Given the description of an element on the screen output the (x, y) to click on. 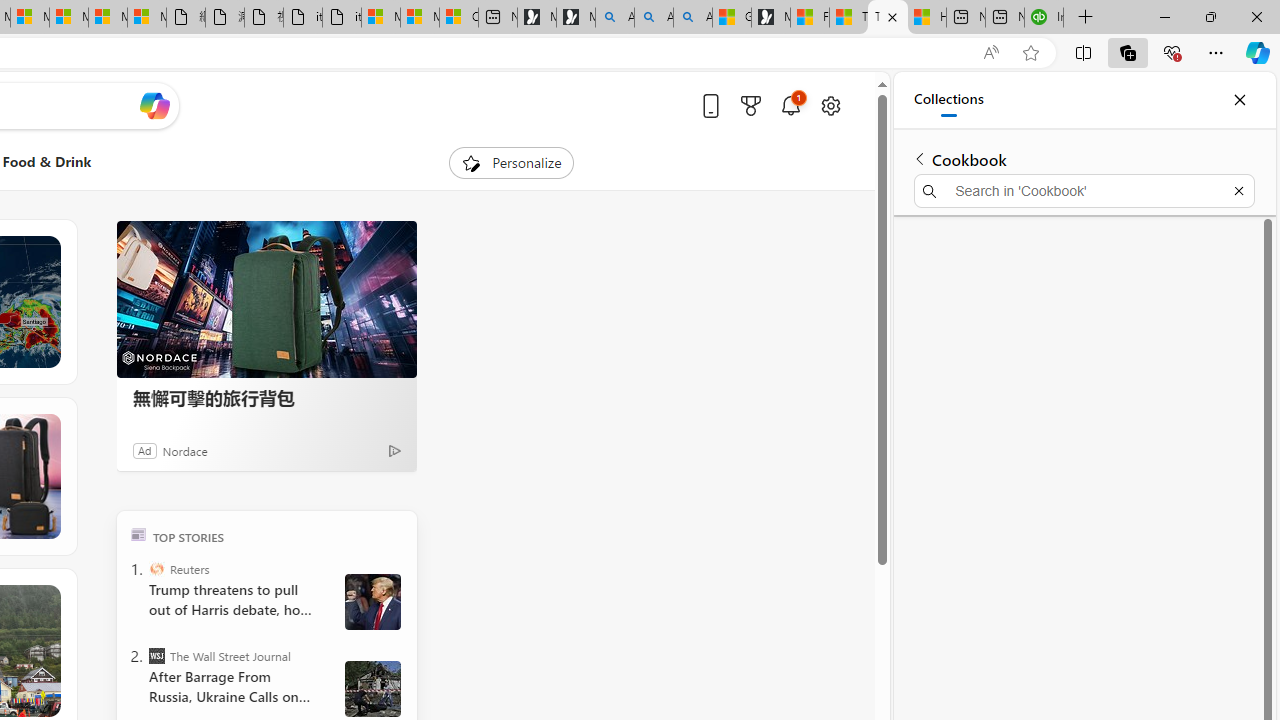
Reuters (156, 568)
Alabama high school quarterback dies - Search Videos (692, 17)
